Given the description of an element on the screen output the (x, y) to click on. 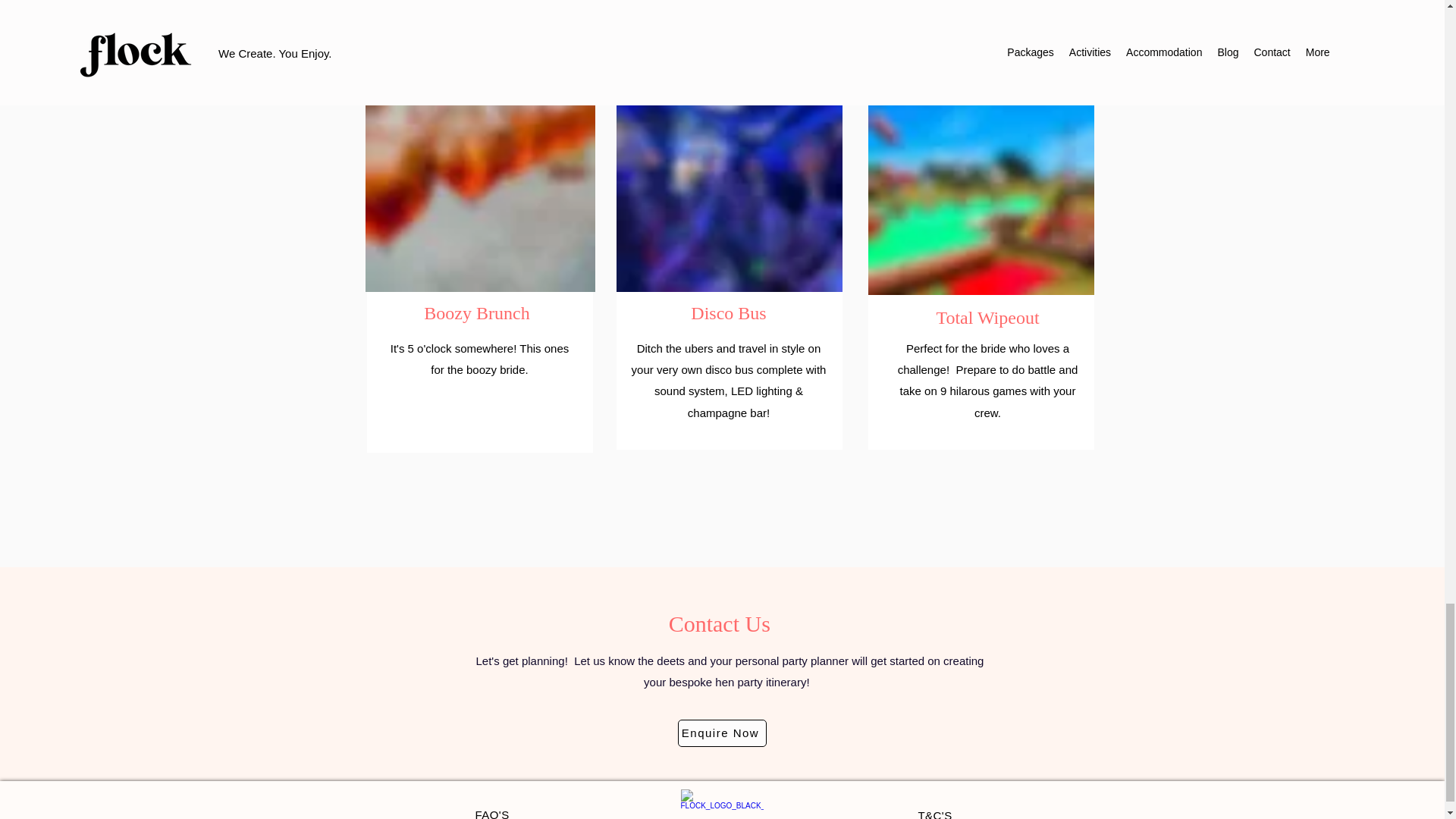
THRILL SEEKER ARCH.jpg (480, 170)
FOODIE ARCH.jpg (980, 171)
CULTURE ARCH.jpg (728, 170)
FAQ'S (491, 813)
Enquire Now (722, 732)
